Given the description of an element on the screen output the (x, y) to click on. 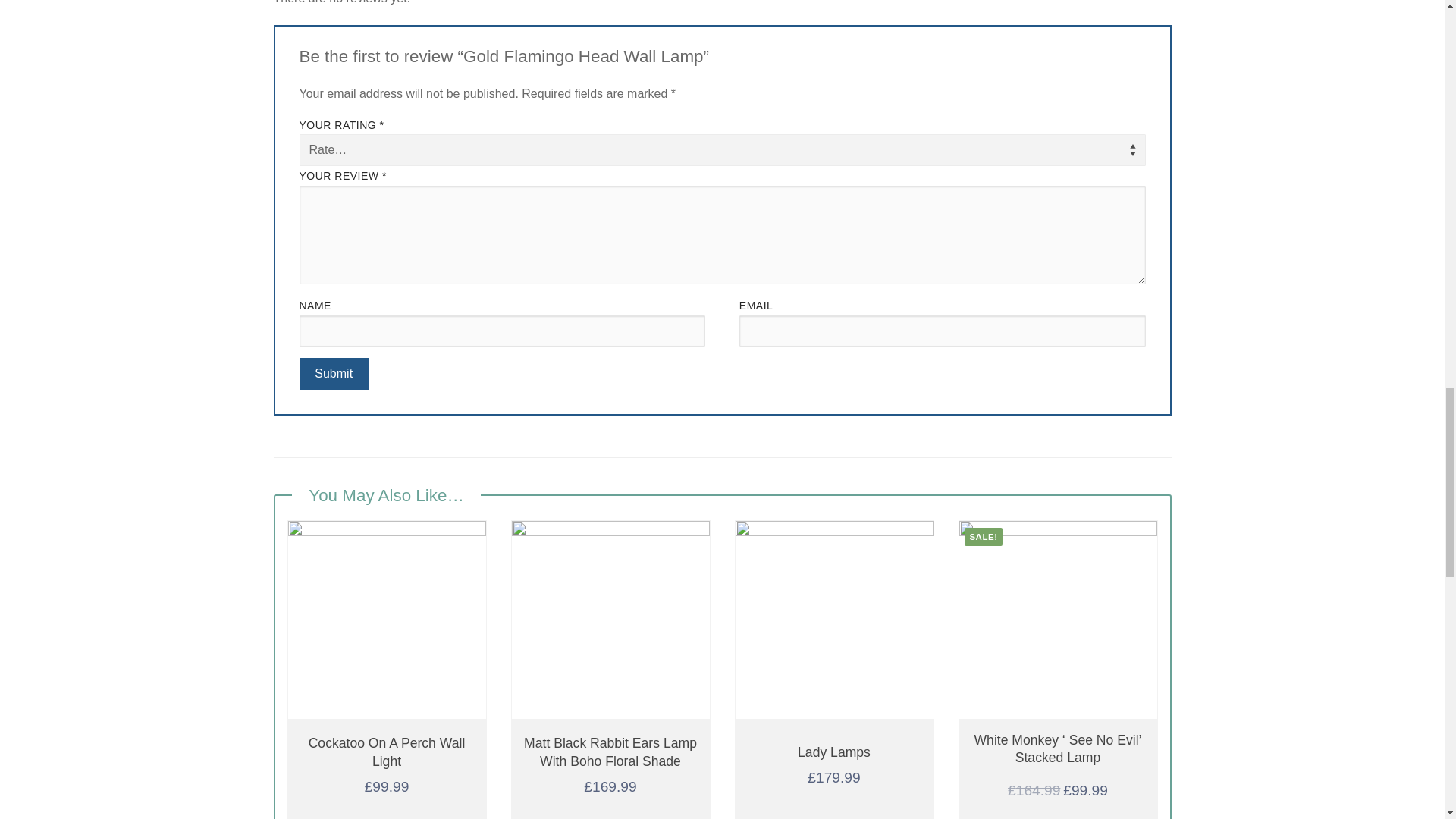
Submit (333, 373)
